Given the description of an element on the screen output the (x, y) to click on. 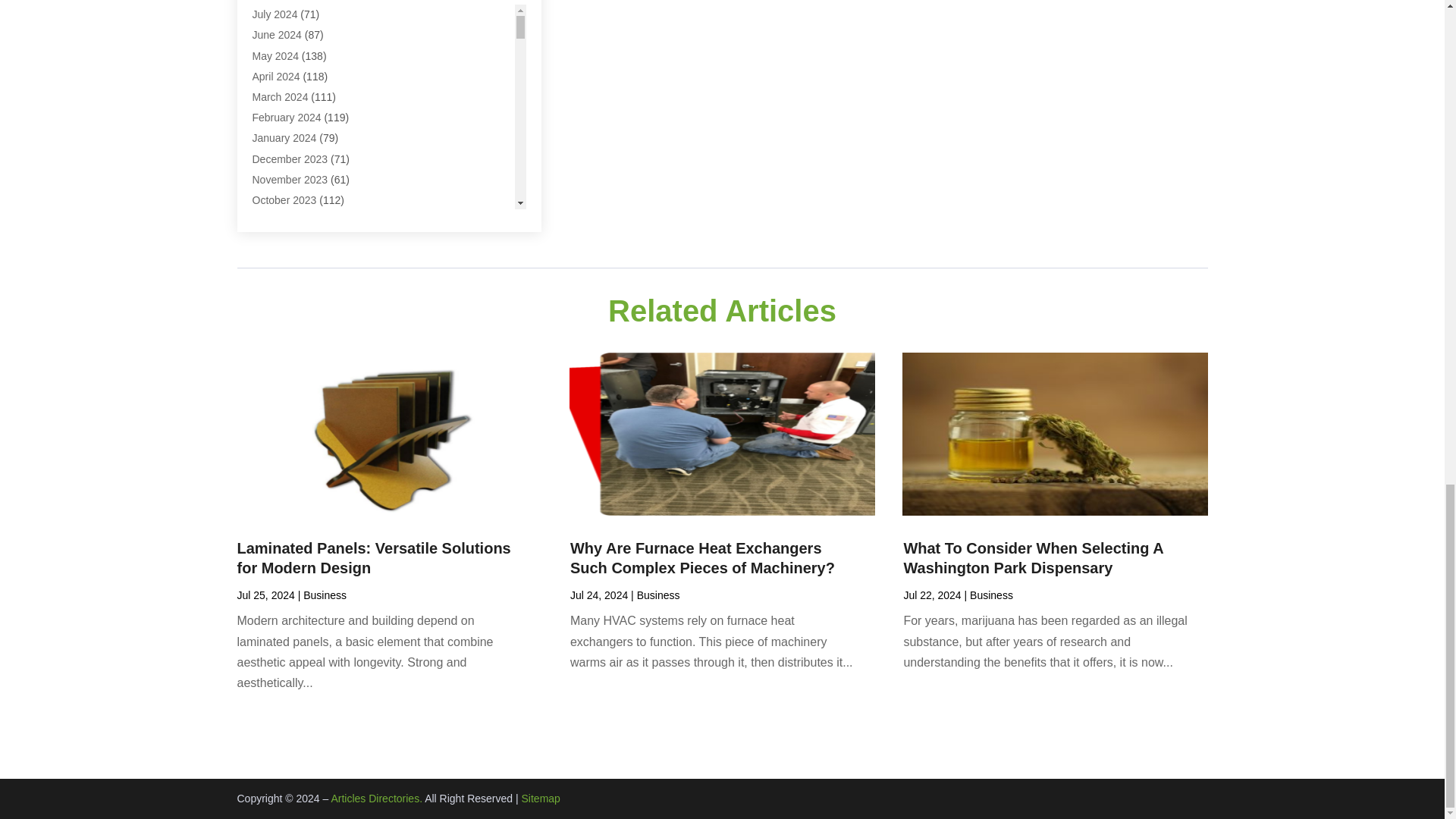
Air Conditioning (288, 39)
Air Conditioning Contractor (314, 60)
Air Conditioners (289, 18)
Agriculture (276, 2)
